Given the description of an element on the screen output the (x, y) to click on. 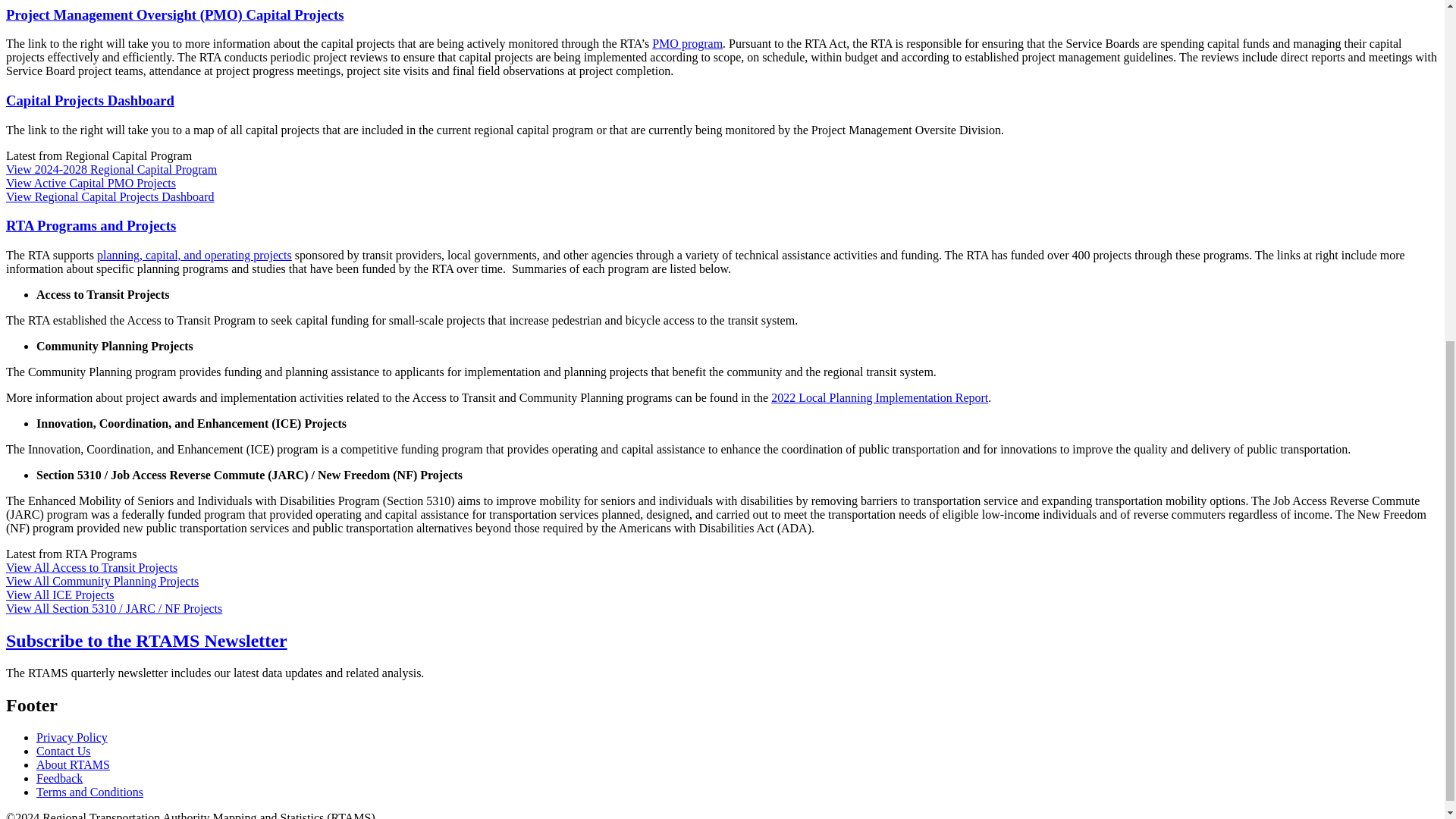
View All Community Planning Projects (101, 581)
2022 Local Planning Implementation Report (879, 397)
planning, capital, and operating projects (194, 254)
View 2024-2028 Regional Capital Program (110, 169)
Capital Projects Dashboard (89, 100)
RTA Programs and Projects (90, 225)
View All Access to Transit Projects (91, 567)
View All ICE Projects (60, 594)
Subscribe to the RTAMS Newsletter (145, 640)
View Active Capital PMO Projects (90, 182)
PMO program (687, 42)
View Regional Capital Projects Dashboard (109, 196)
